Given the description of an element on the screen output the (x, y) to click on. 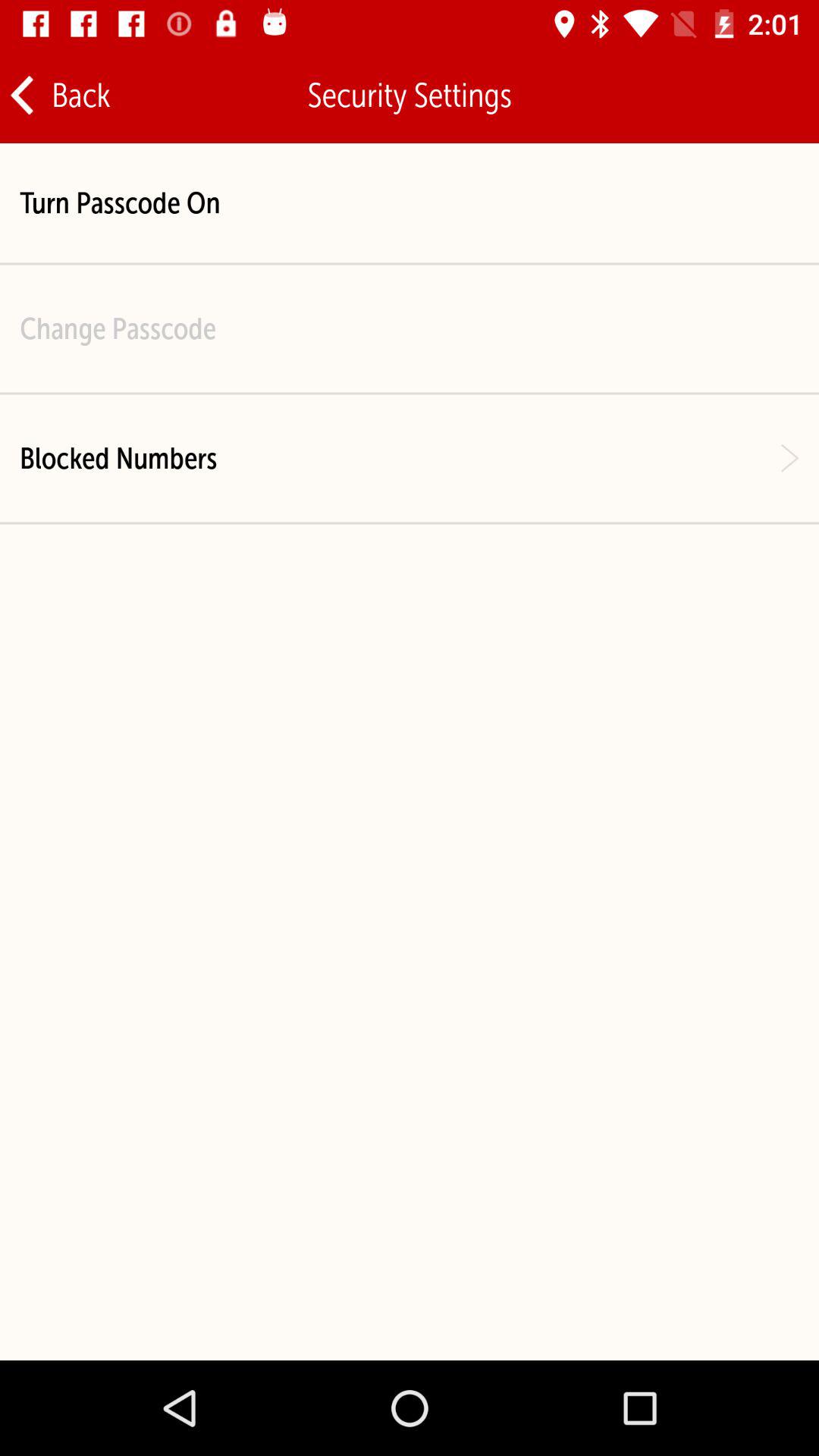
press icon next to blocked numbers item (789, 458)
